Given the description of an element on the screen output the (x, y) to click on. 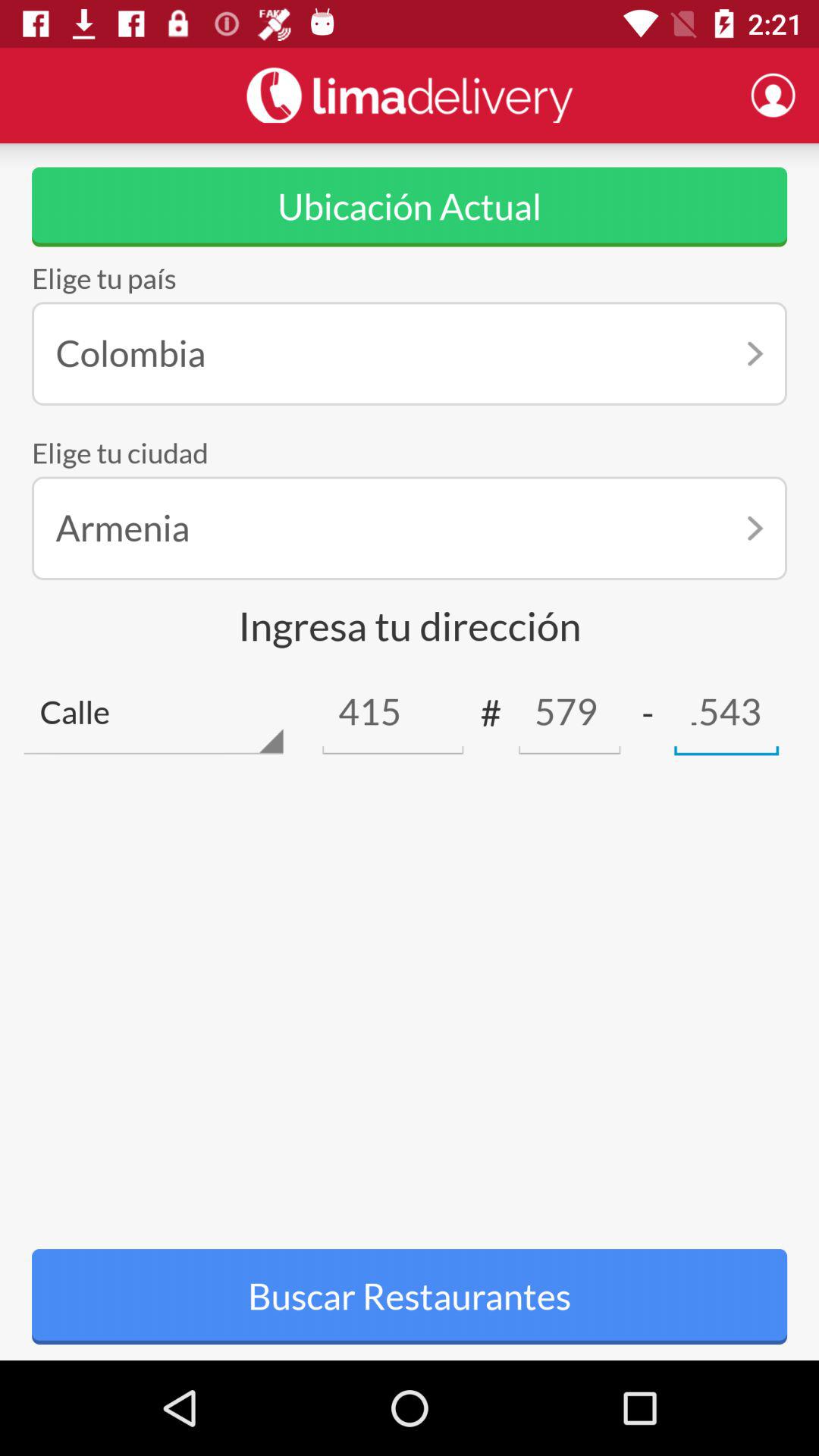
open personal settings (773, 95)
